Given the description of an element on the screen output the (x, y) to click on. 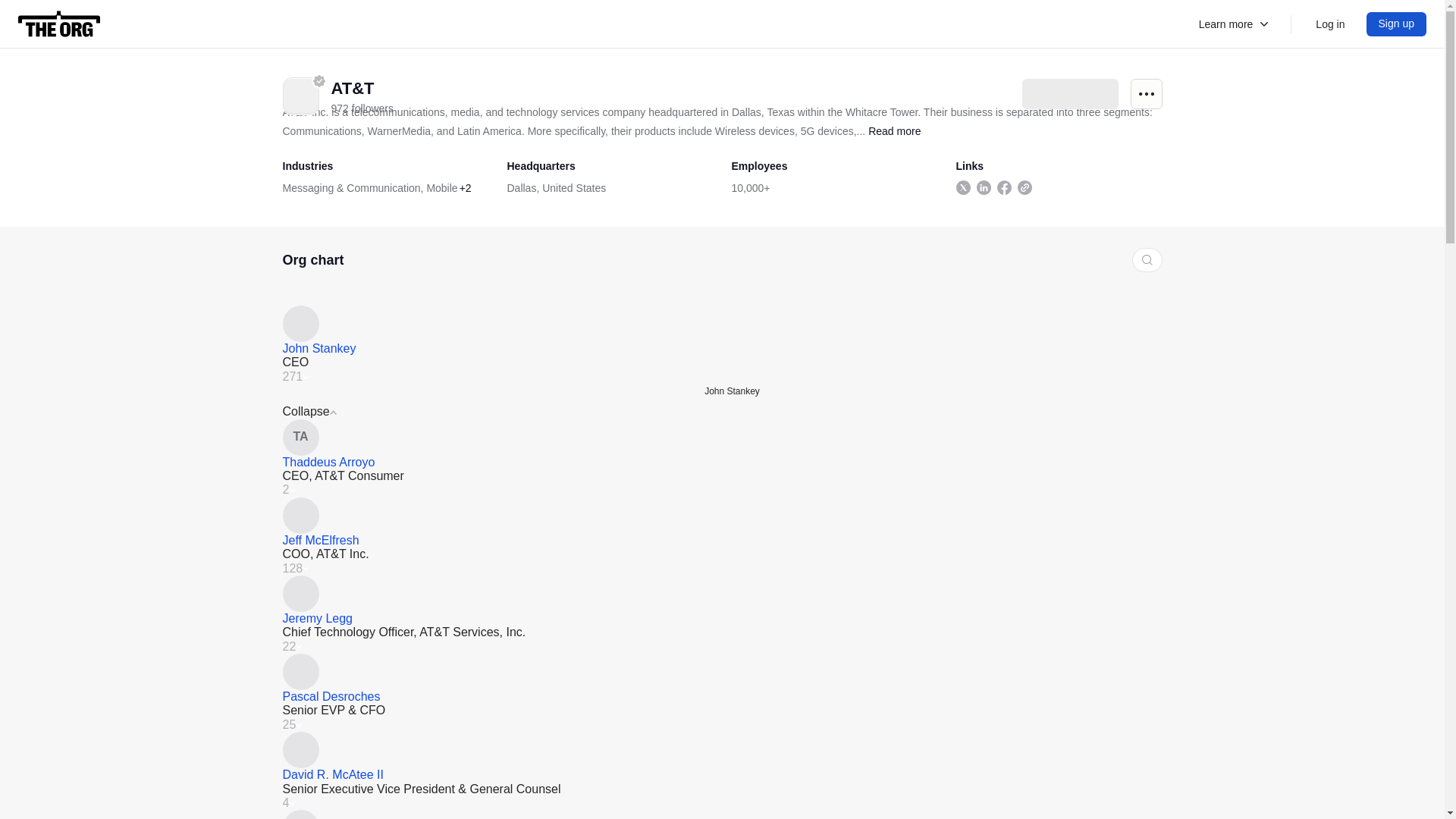
Sign up (1396, 24)
Jeff McElfresh (320, 540)
TA (721, 437)
Sign up to The Org (1396, 24)
Show reports (288, 489)
View Thaddeus Arroyo on The Org (721, 437)
271 (295, 377)
Log in (1329, 24)
Collapse reports (295, 377)
Search people (1146, 259)
View John Stankey on The Org (721, 323)
View Jeremy Legg on The Org (721, 593)
2 (288, 489)
The Org Home (58, 23)
View Jeremy Legg on The Org (317, 617)
